Given the description of an element on the screen output the (x, y) to click on. 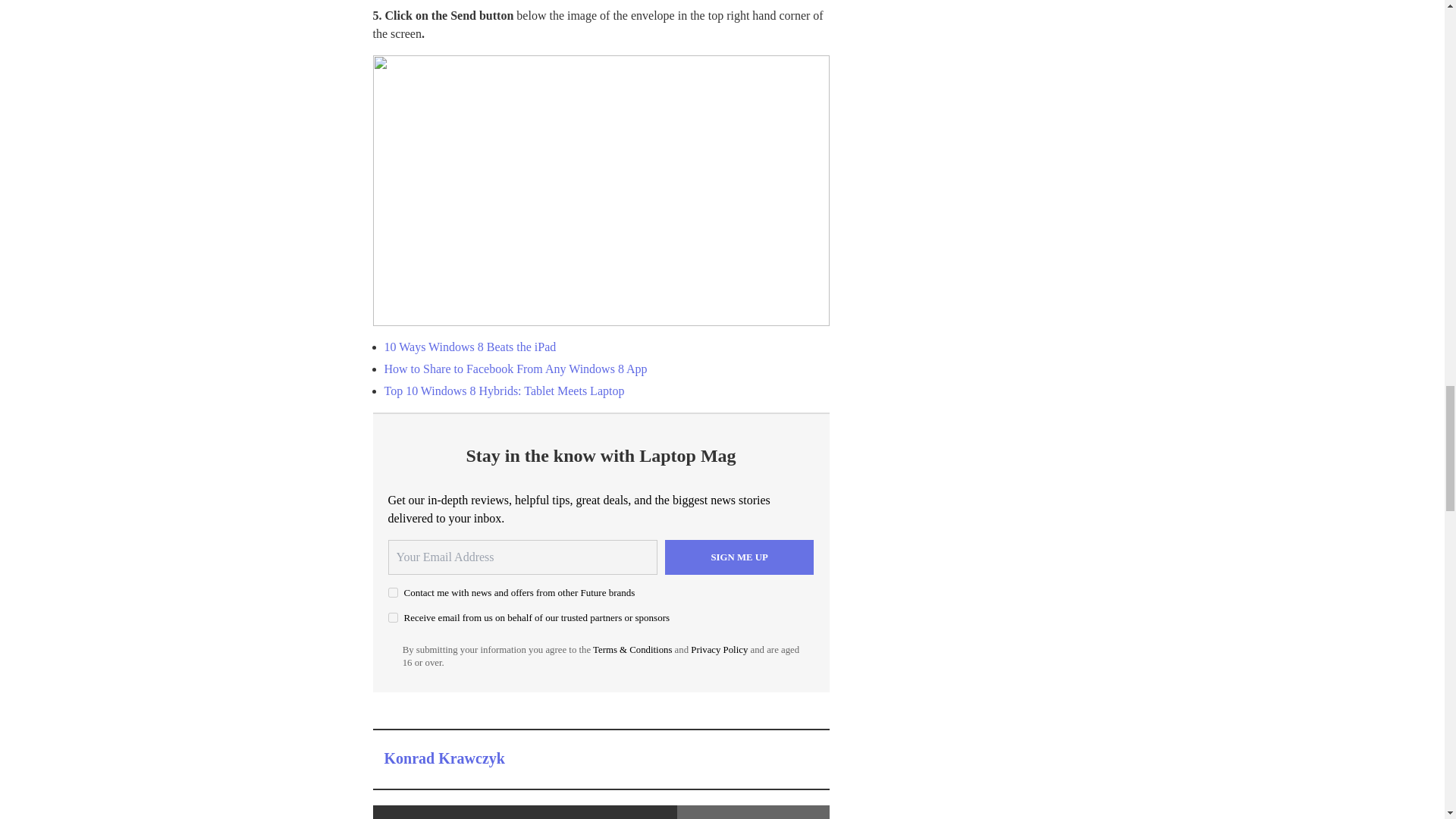
on (392, 592)
on (392, 617)
Sign me up (739, 556)
